Given the description of an element on the screen output the (x, y) to click on. 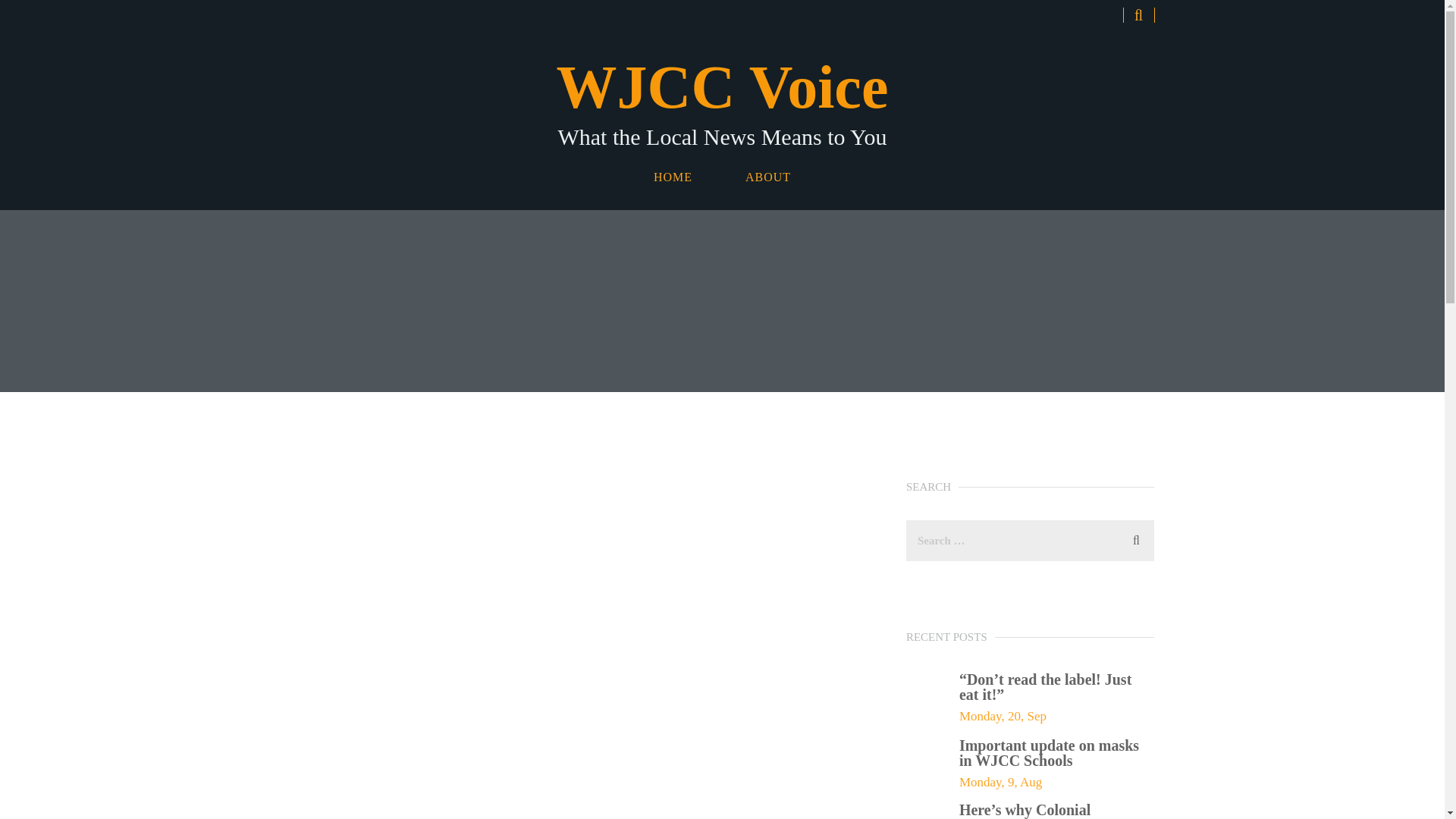
Important update on masks in WJCC Schools (1056, 752)
Search (1136, 537)
HOME (673, 177)
Search (722, 104)
ABOUT (1136, 537)
Search (767, 177)
